Given the description of an element on the screen output the (x, y) to click on. 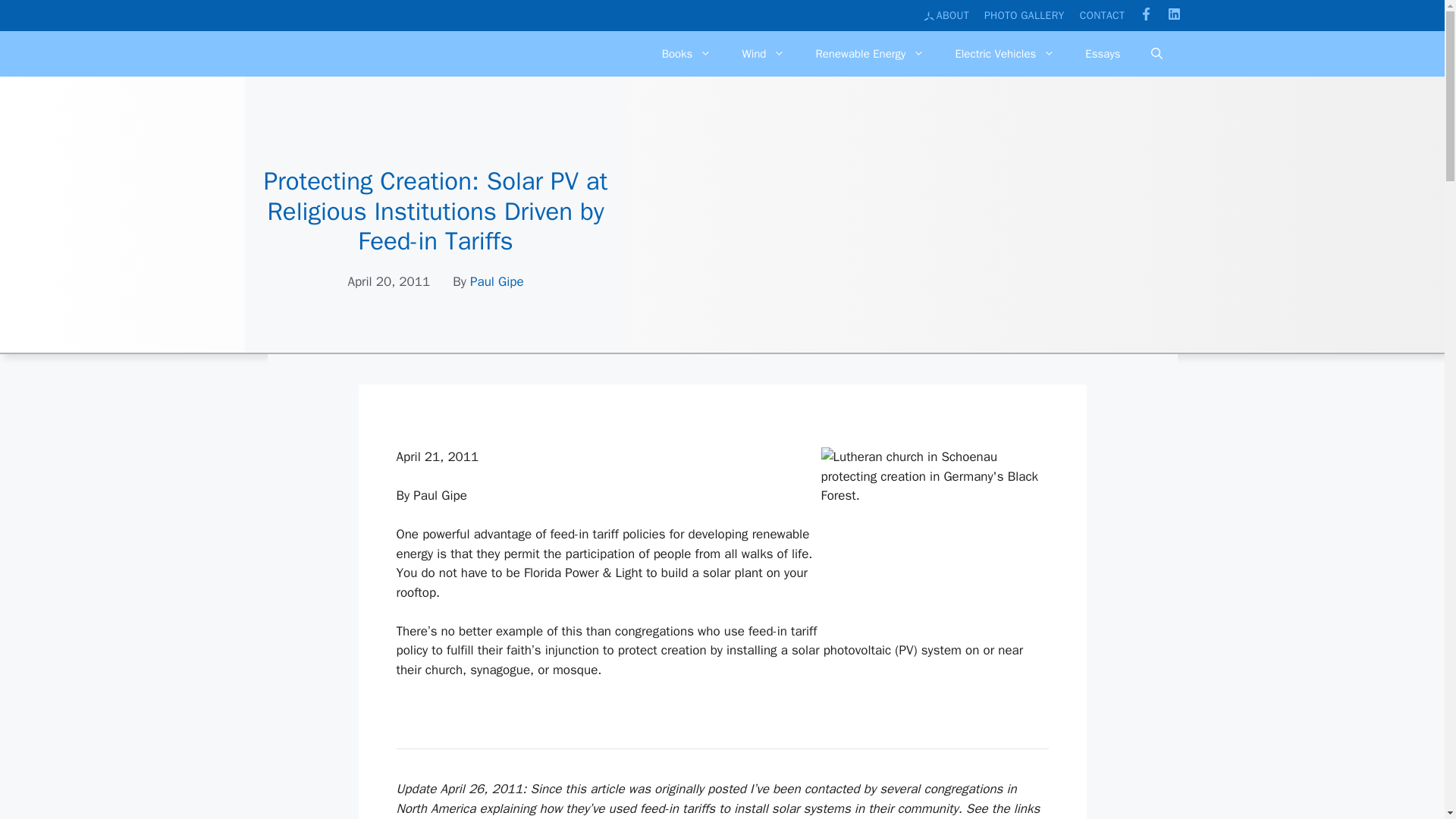
PHOTO GALLERY (1024, 15)
WIND WORKS (342, 80)
ABOUT (946, 15)
CONTACT (1102, 15)
